Given the description of an element on the screen output the (x, y) to click on. 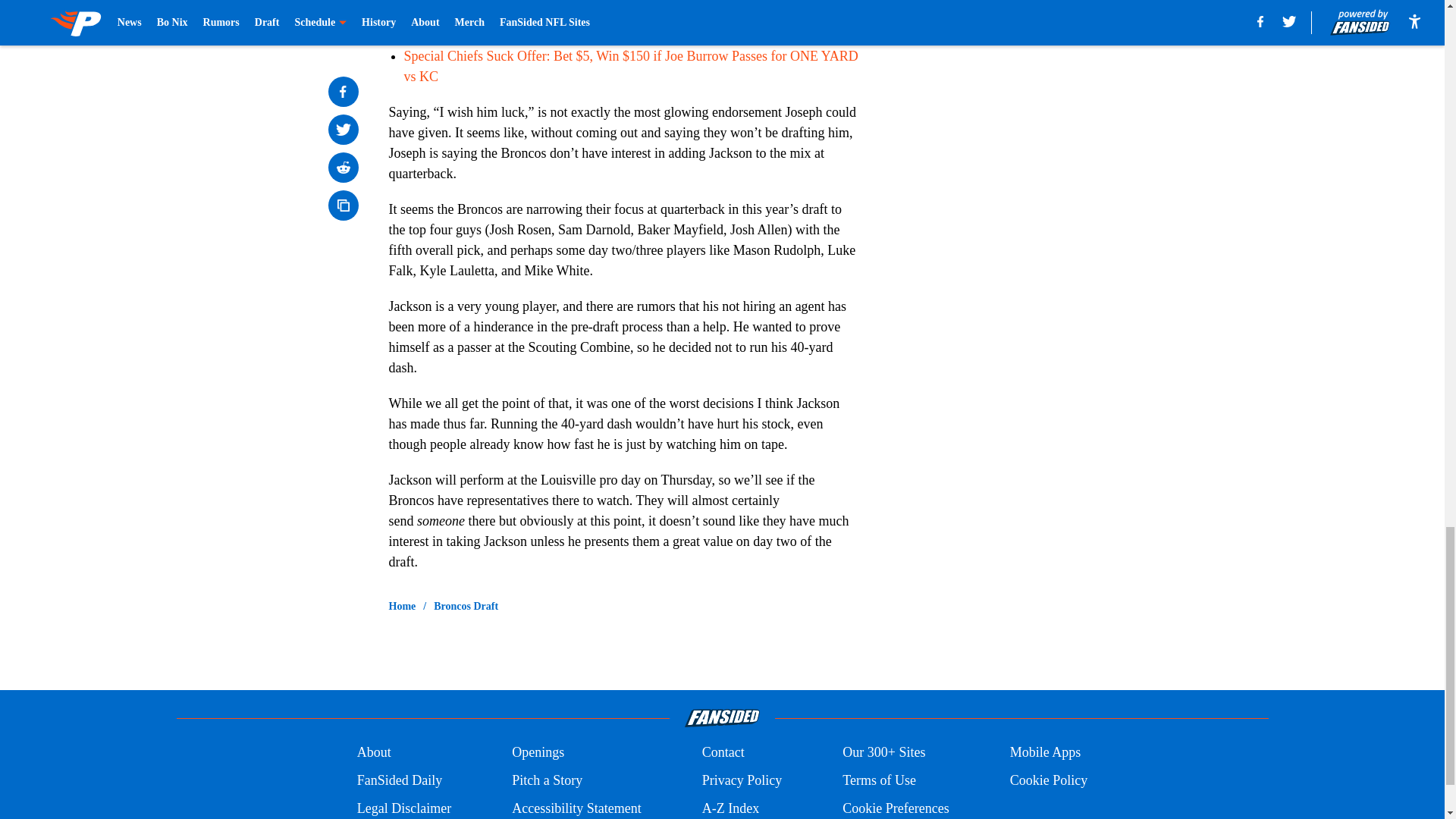
FanSided Daily (399, 780)
About (373, 752)
Home (401, 606)
Contact (722, 752)
Openings (538, 752)
Broncos Draft (465, 606)
Terms of Use (879, 780)
Pitch a Story (547, 780)
Mobile Apps (1045, 752)
